Given the description of an element on the screen output the (x, y) to click on. 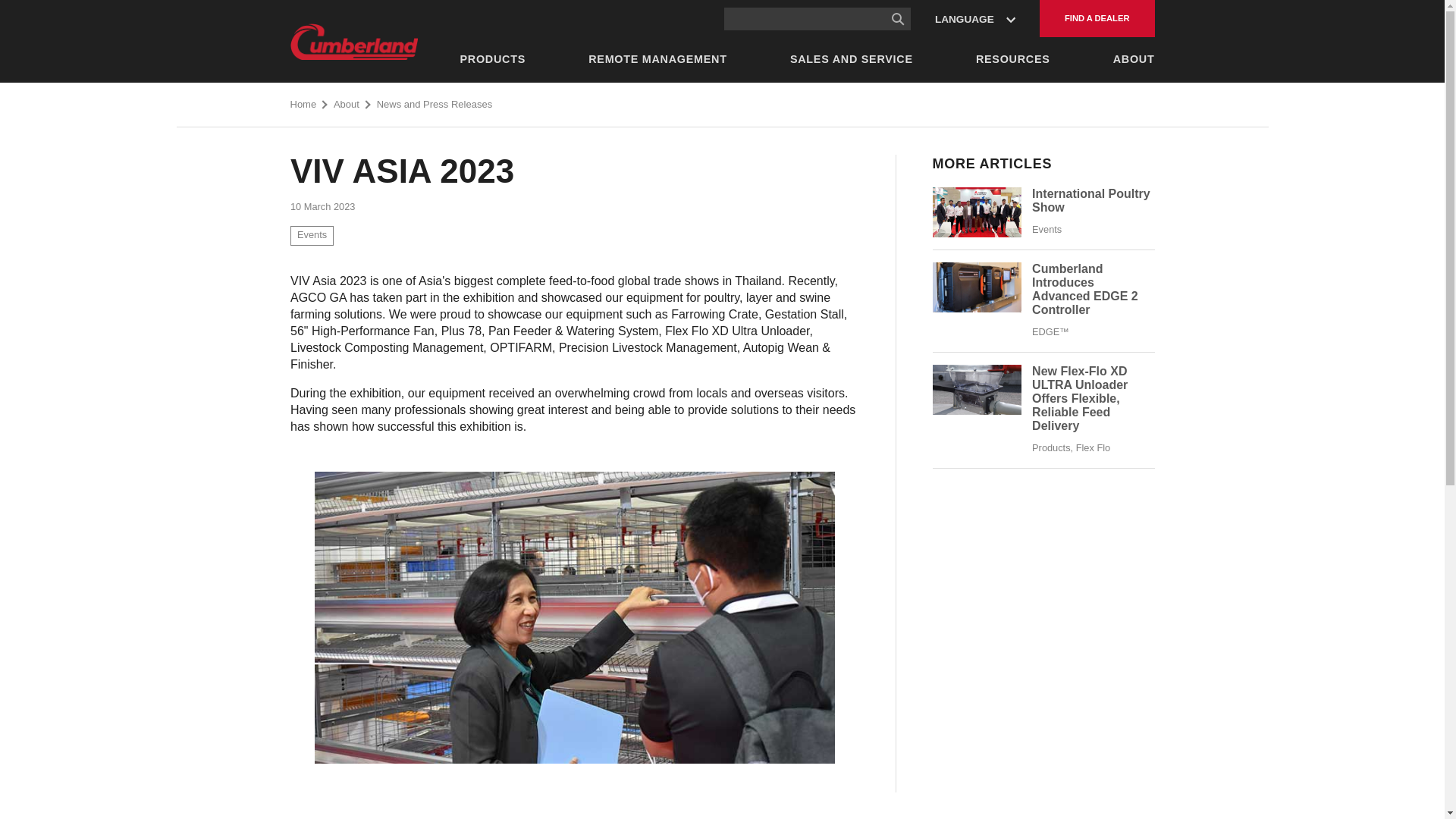
FIND A DEALER (1096, 18)
EDGE 2 (1085, 289)
Cumberland Poultry (352, 41)
LANGUAGE (975, 18)
12th International Poultry Show (977, 212)
12th International Poultry Show (1091, 200)
Flex-Flo XD Ultra Unloaders (1079, 398)
Flex-Flo XD Ultra Unloaders (977, 389)
Find your local Cumberland Dealer (1096, 18)
PRODUCTS (492, 59)
EDGE 2 (977, 287)
REMOTE MANAGEMENT (657, 59)
